Given the description of an element on the screen output the (x, y) to click on. 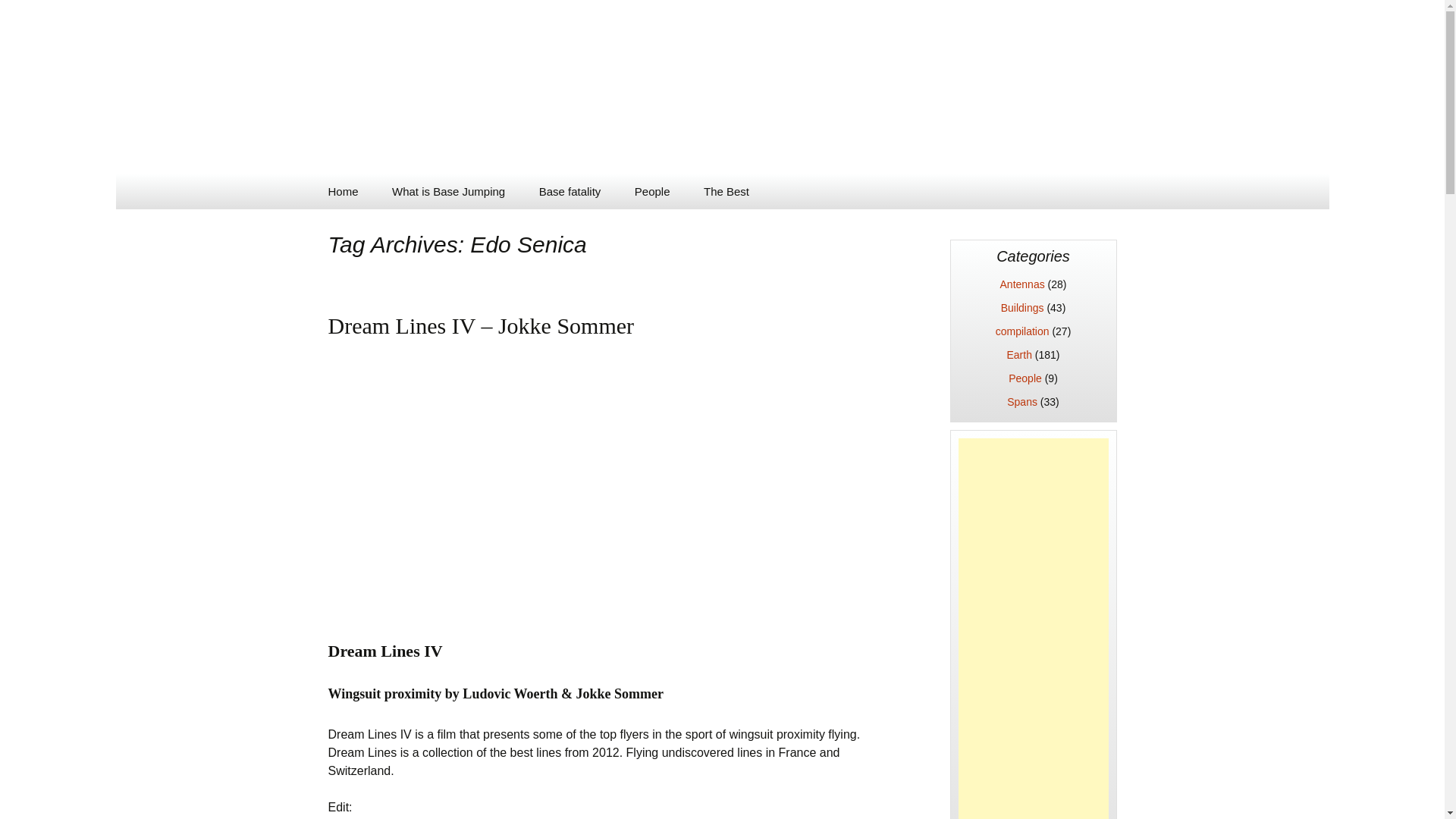
People (652, 191)
Base fatality (569, 191)
The Best (726, 191)
What is Base Jumping (448, 191)
Advertisement (1033, 628)
Home (342, 191)
Search (18, 15)
